Given the description of an element on the screen output the (x, y) to click on. 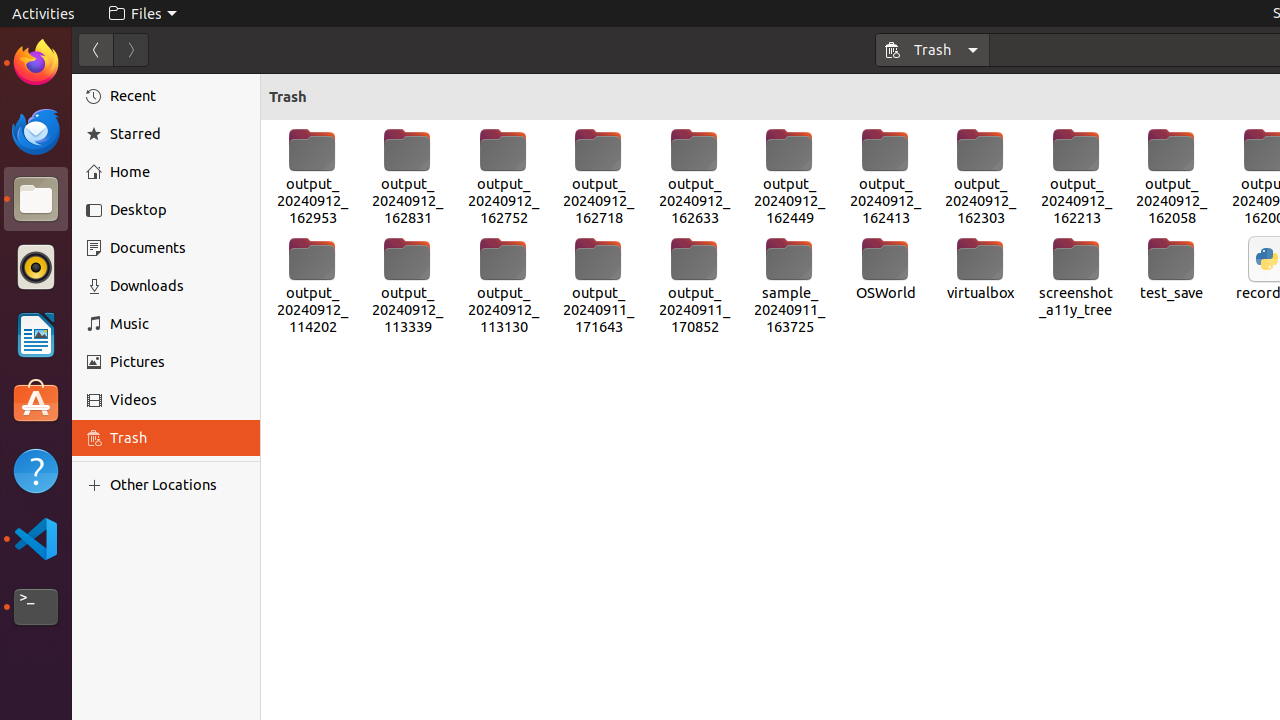
output_20240912_162831 Element type: canvas (408, 177)
Activities Element type: label (43, 13)
Starred Element type: label (178, 134)
Music Element type: label (178, 324)
